Given the description of an element on the screen output the (x, y) to click on. 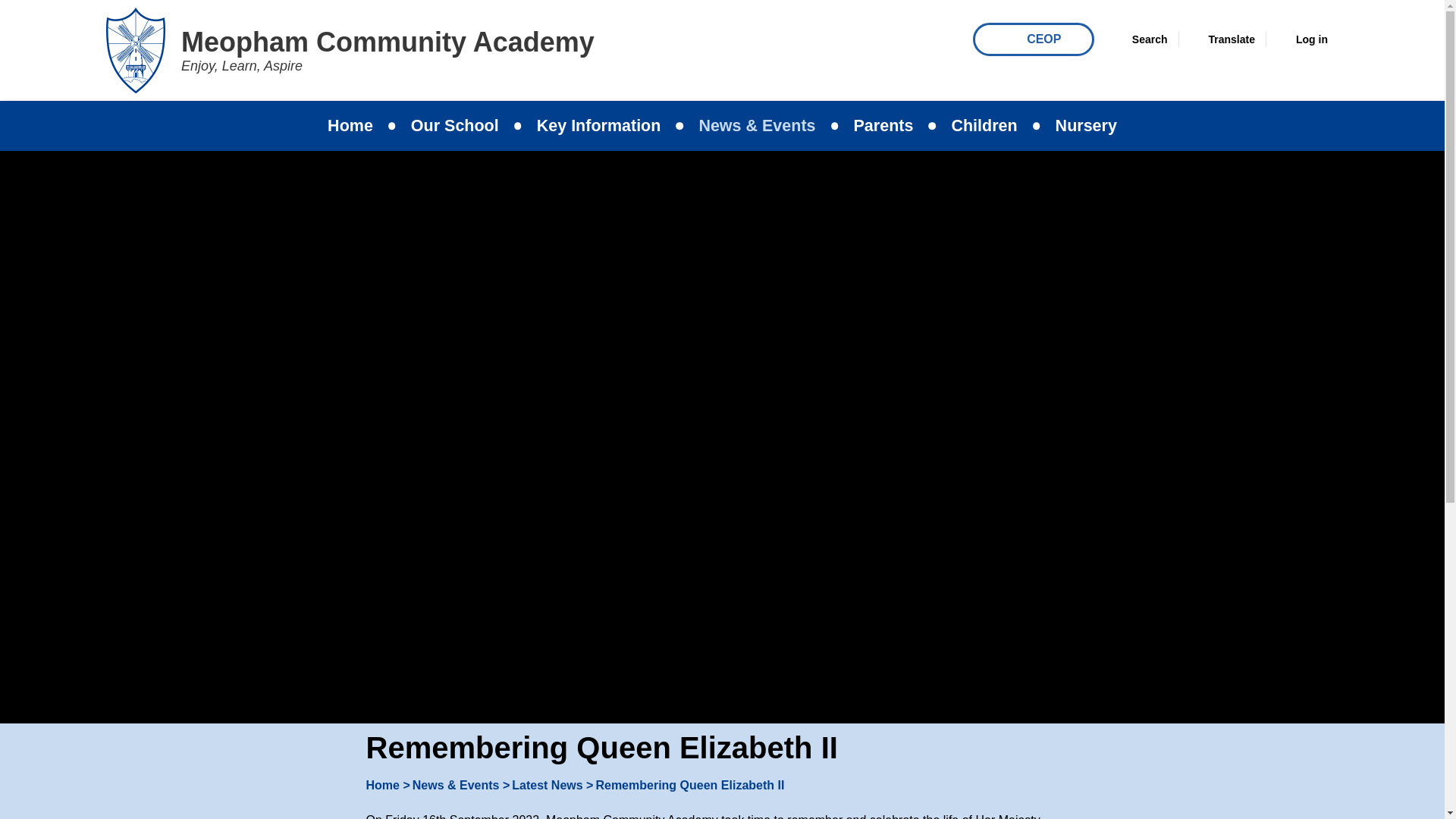
Home (349, 125)
Key Information (599, 125)
CEOP (1033, 39)
Log in (1302, 39)
Search (1139, 39)
Translate (1222, 39)
Our School (454, 125)
